Given the description of an element on the screen output the (x, y) to click on. 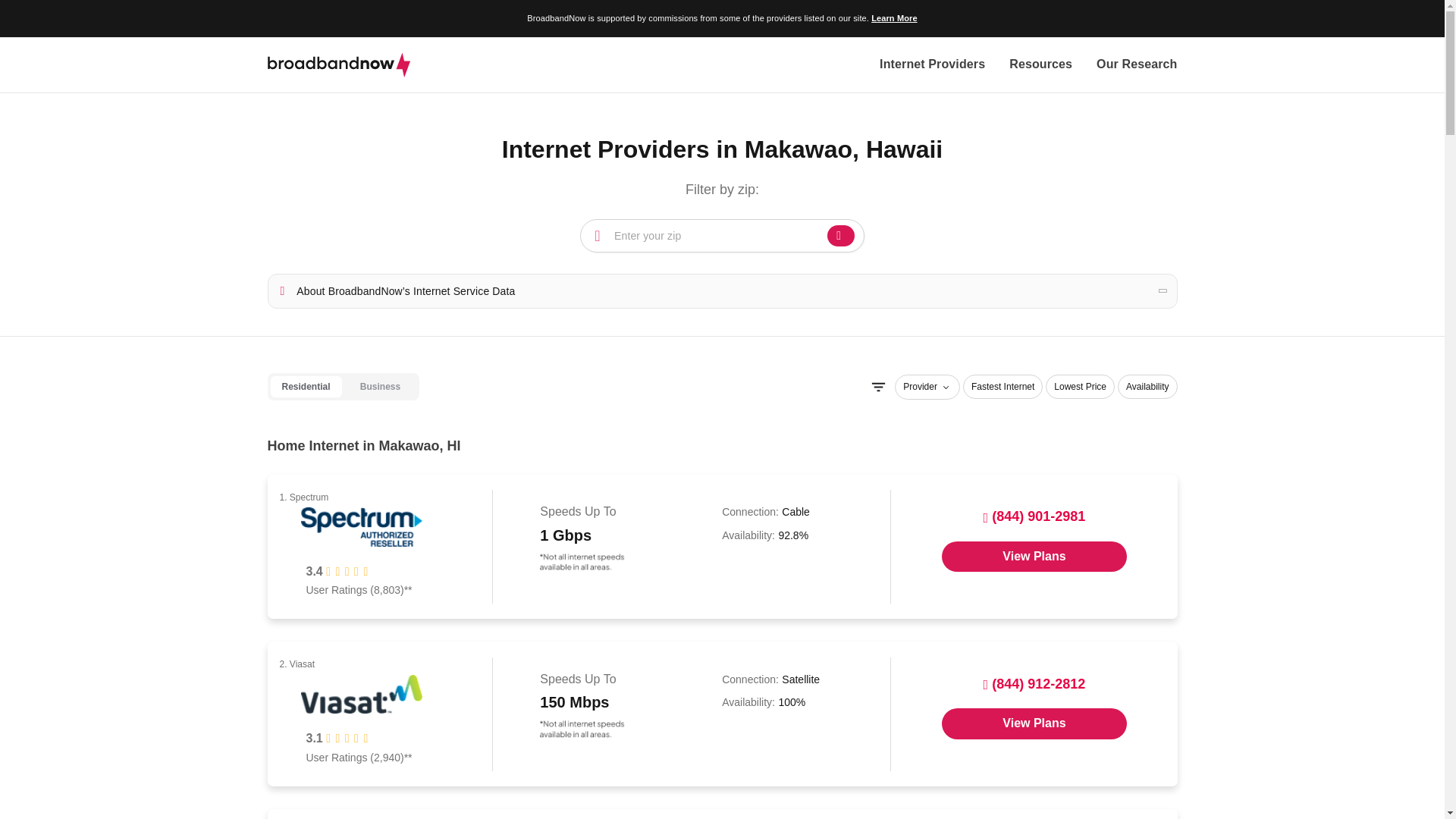
Learn More (893, 17)
Opens in a new window (1034, 723)
Opens in a new window (1034, 556)
Residential (305, 386)
Business (379, 386)
Resources (1040, 64)
Internet Providers (932, 64)
Our Research (1136, 64)
